Given the description of an element on the screen output the (x, y) to click on. 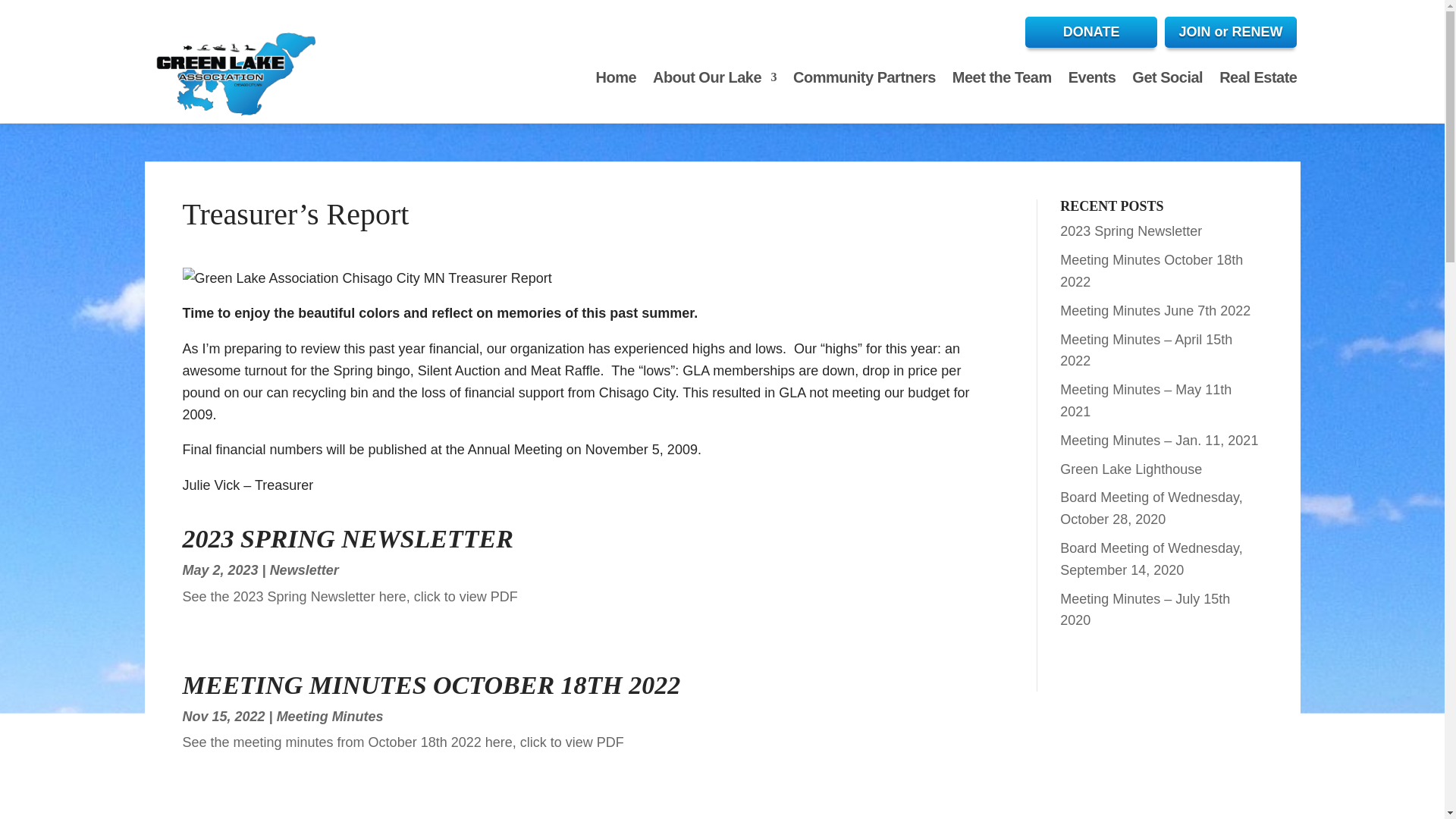
2023 Spring Newsletter (1130, 231)
JOIN or RENEW (1229, 31)
Meeting Minutes June 7th 2022 (1154, 310)
MEETING MINUTES OCTOBER 18TH 2022 (430, 684)
About Our Lake (714, 76)
Meeting Minutes (330, 716)
2023 SPRING NEWSLETTER (347, 538)
DONATE (1091, 31)
Community Partners (864, 76)
